Given the description of an element on the screen output the (x, y) to click on. 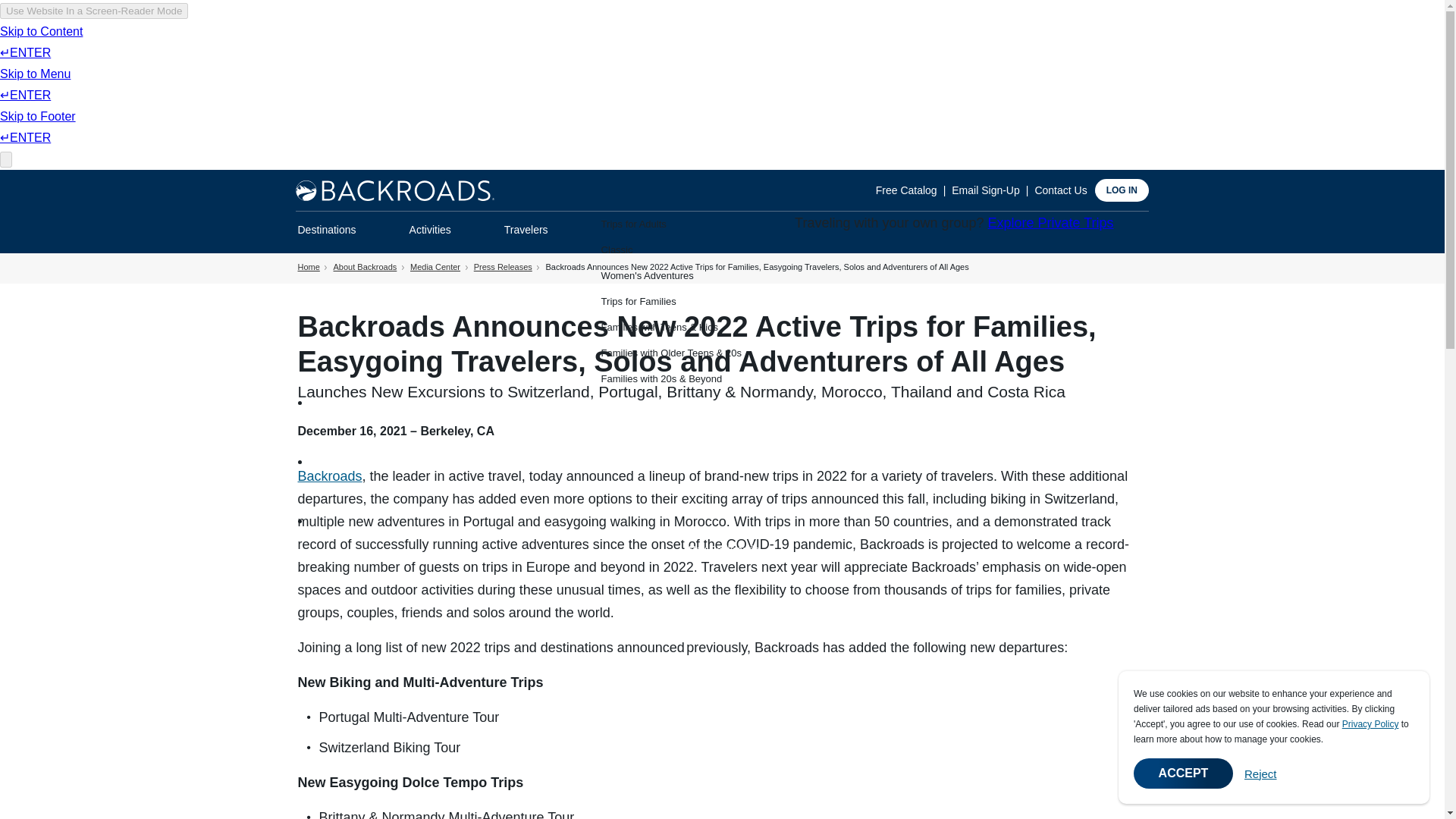
LOG IN (1121, 190)
Home (395, 190)
Email Sign-Up (992, 190)
Destinations (326, 230)
Home (395, 190)
Contact Us (1059, 190)
Free Catalog (914, 190)
